Given the description of an element on the screen output the (x, y) to click on. 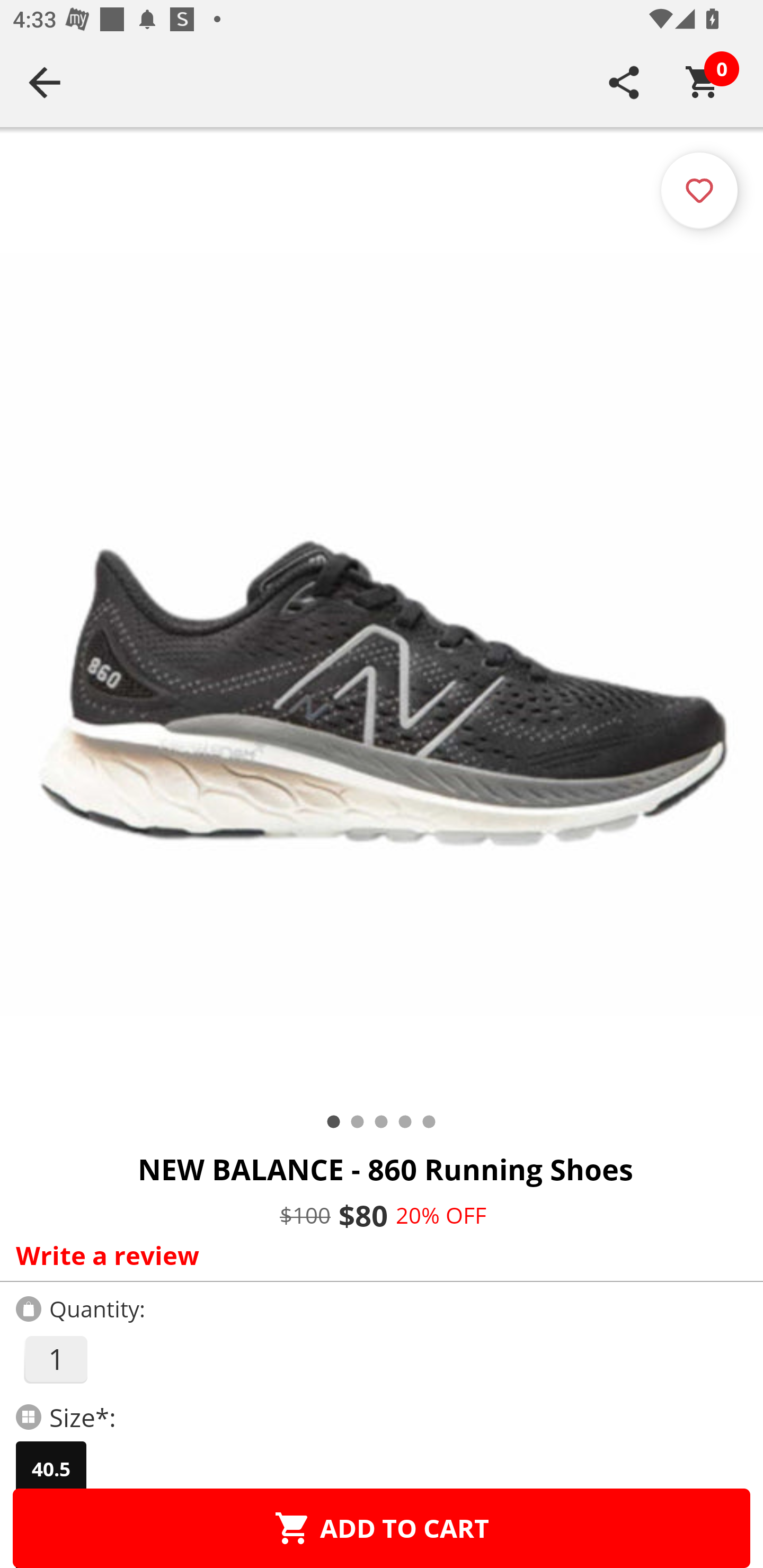
Navigate up (44, 82)
SHARE (623, 82)
Cart (703, 81)
Write a review (377, 1255)
1 (55, 1358)
40.5 (51, 1468)
ADD TO CART (381, 1528)
